Given the description of an element on the screen output the (x, y) to click on. 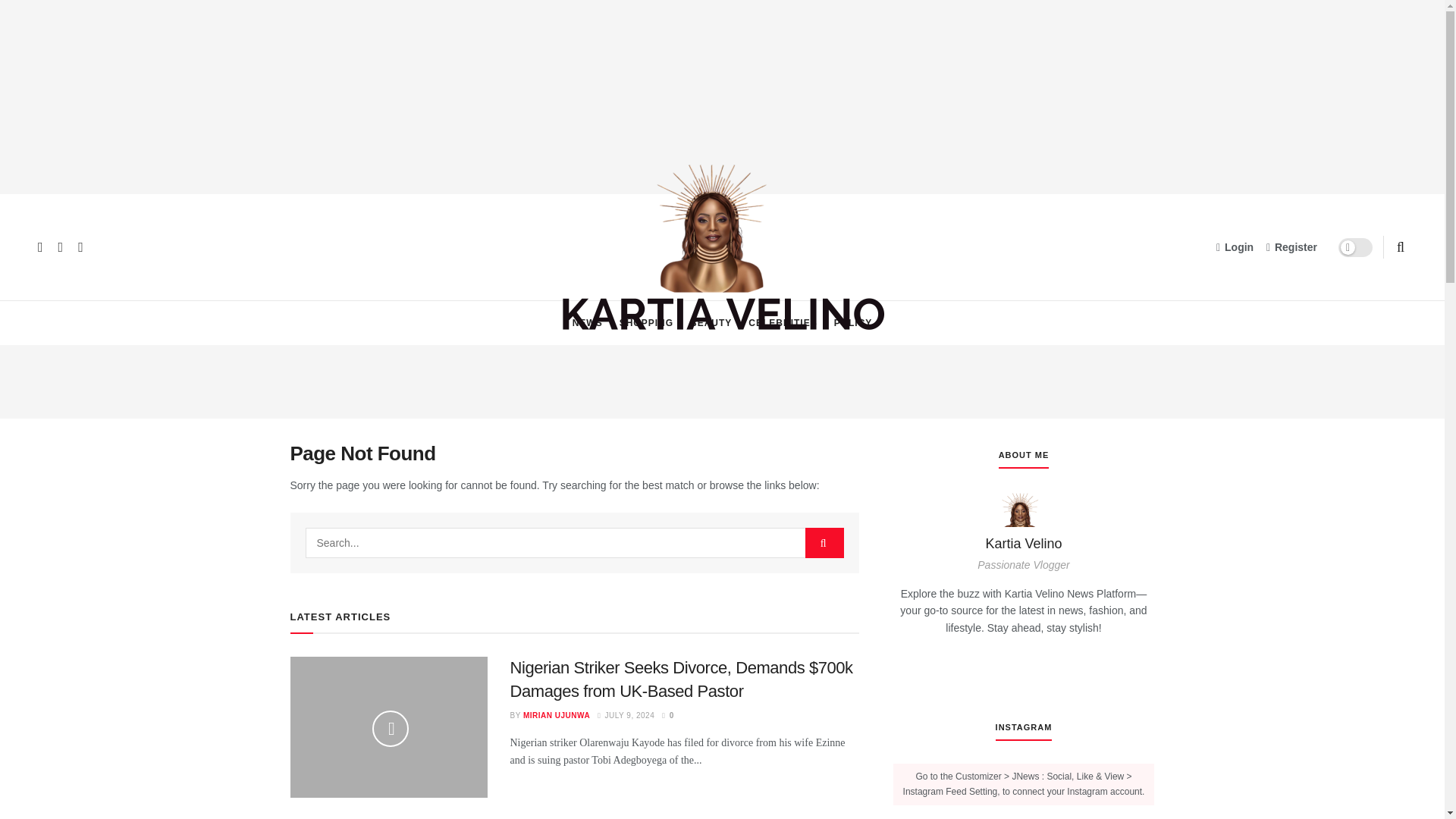
Login (1234, 247)
MIRIAN UJUNWA (555, 715)
JULY 9, 2024 (624, 715)
SHOPPING (646, 322)
Register (1291, 247)
0 (668, 715)
CELEBRITIES (782, 322)
BEAUTY (711, 322)
